Given the description of an element on the screen output the (x, y) to click on. 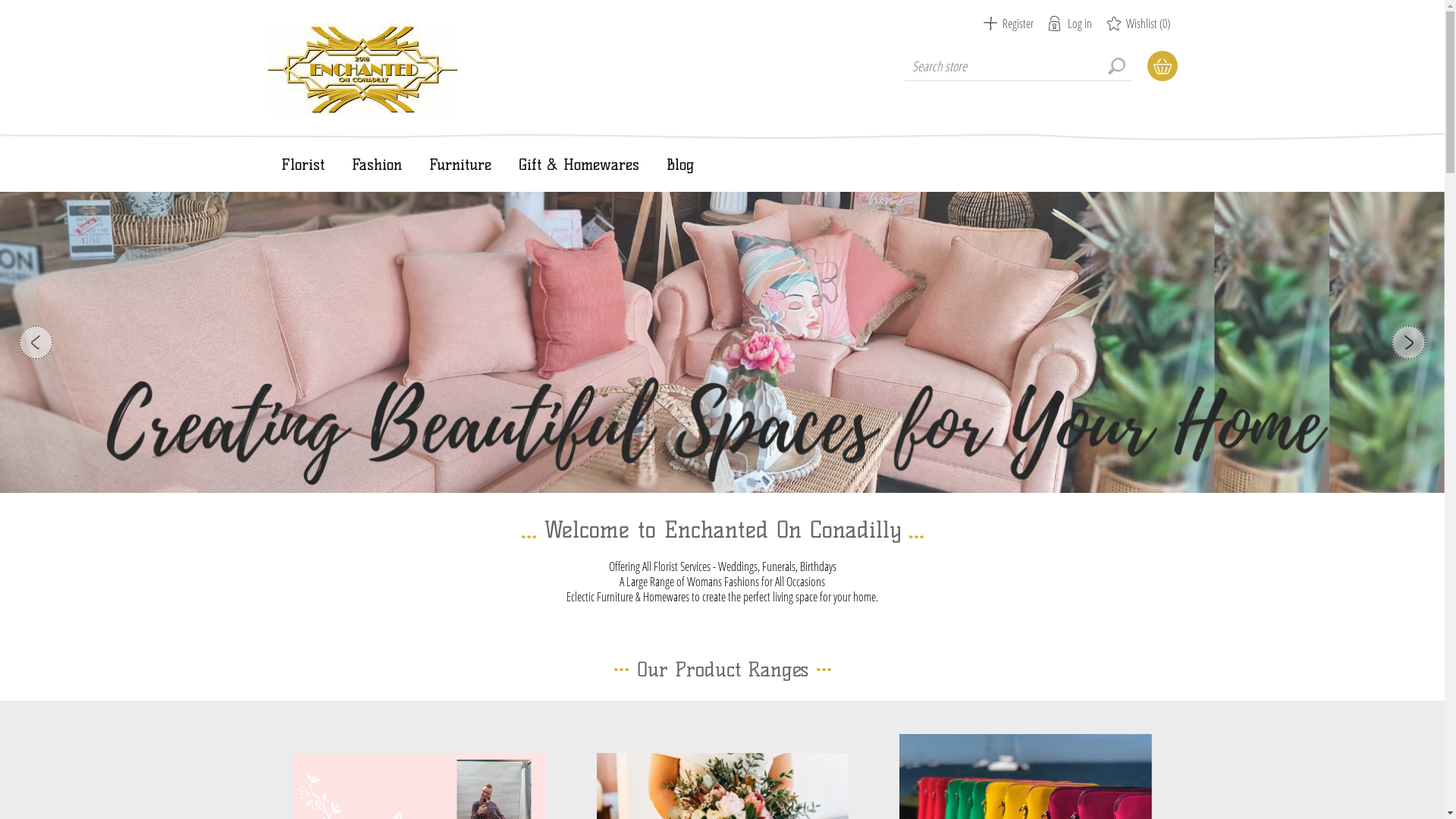
Search Element type: text (1116, 65)
Log in Element type: text (1069, 23)
Blog Element type: text (679, 164)
Next Element type: text (1408, 342)
Gift & Homewares Element type: text (578, 164)
SHOPPING CART Element type: text (1161, 65)
Furniture Element type: text (460, 164)
Previous Element type: text (35, 342)
Fashion Element type: text (376, 164)
Register Element type: text (1007, 23)
Florist Element type: text (301, 164)
Wishlist (0) Element type: text (1138, 23)
